Given the description of an element on the screen output the (x, y) to click on. 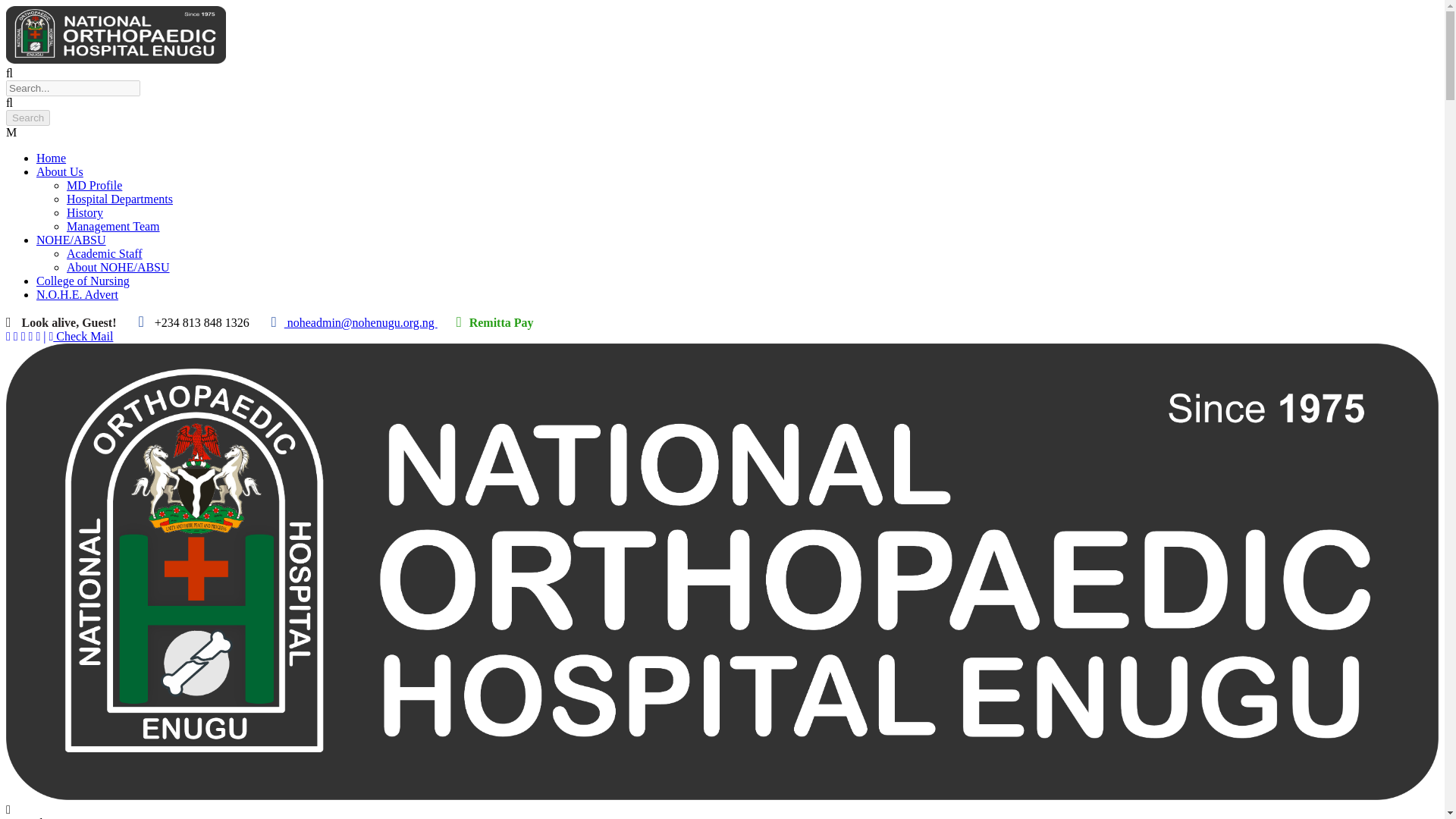
College of Nursing (82, 280)
Remitta Pay (501, 322)
About Us (59, 171)
History (84, 212)
Search (27, 117)
Hospital Departments (119, 198)
N.O.H.E. Advert (76, 294)
Check Mail (80, 336)
Academic Staff (104, 253)
logo (115, 34)
